Given the description of an element on the screen output the (x, y) to click on. 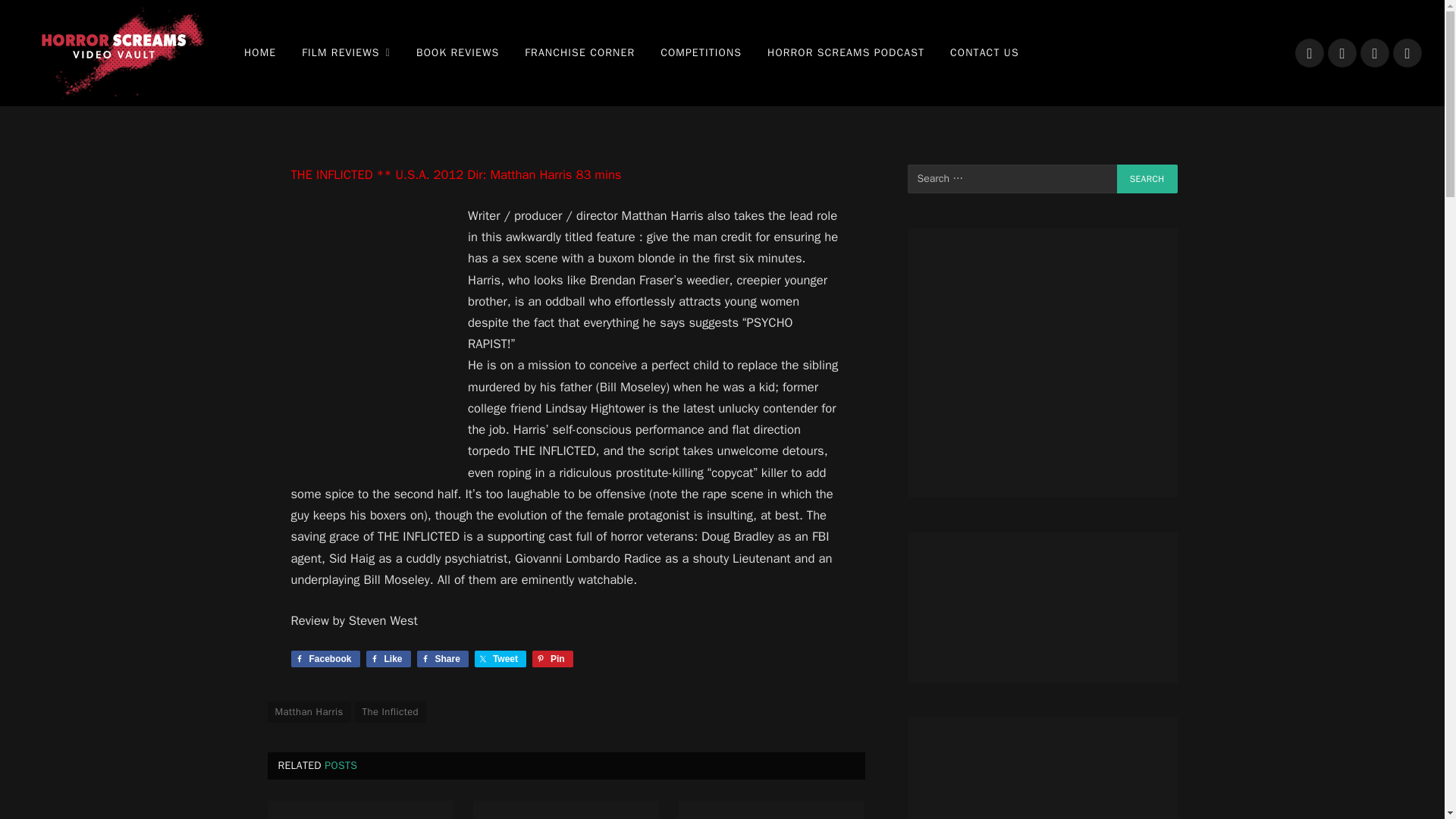
Pin (552, 658)
HORROR SCREAMS PODCAST (845, 53)
FILM REVIEWS (345, 53)
Facebook (1309, 52)
Share on Facebook (325, 658)
Search (1146, 178)
Facebook (325, 658)
COMPETITIONS (700, 53)
Like (388, 658)
Like on Facebook (388, 658)
